Given the description of an element on the screen output the (x, y) to click on. 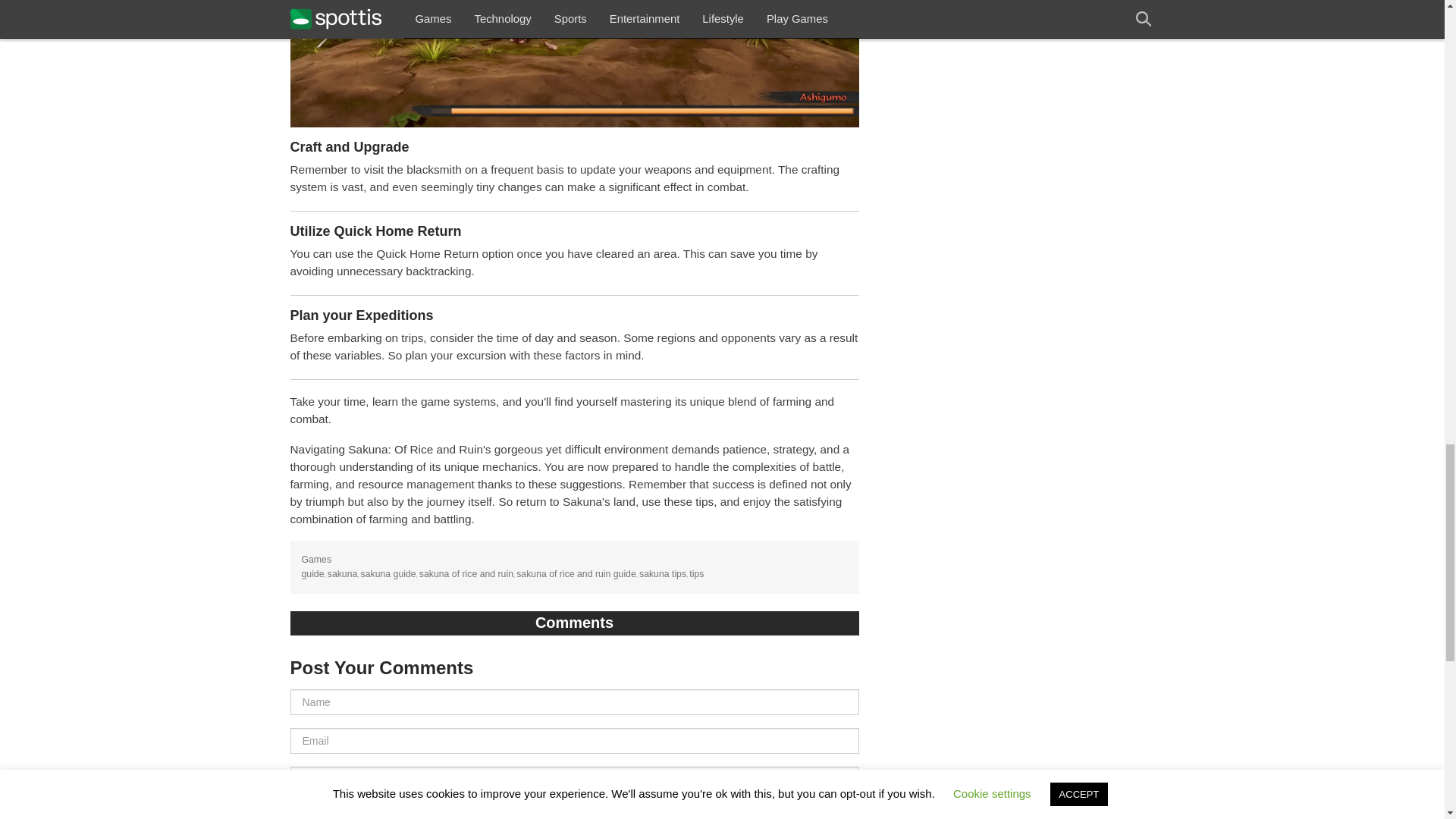
sakuna (342, 573)
guide (312, 573)
Games (316, 559)
tips (695, 573)
sakuna guide (388, 573)
sakuna tips (662, 573)
sakuna of rice and ruin guide (576, 573)
sakuna of rice and ruin (466, 573)
